Given the description of an element on the screen output the (x, y) to click on. 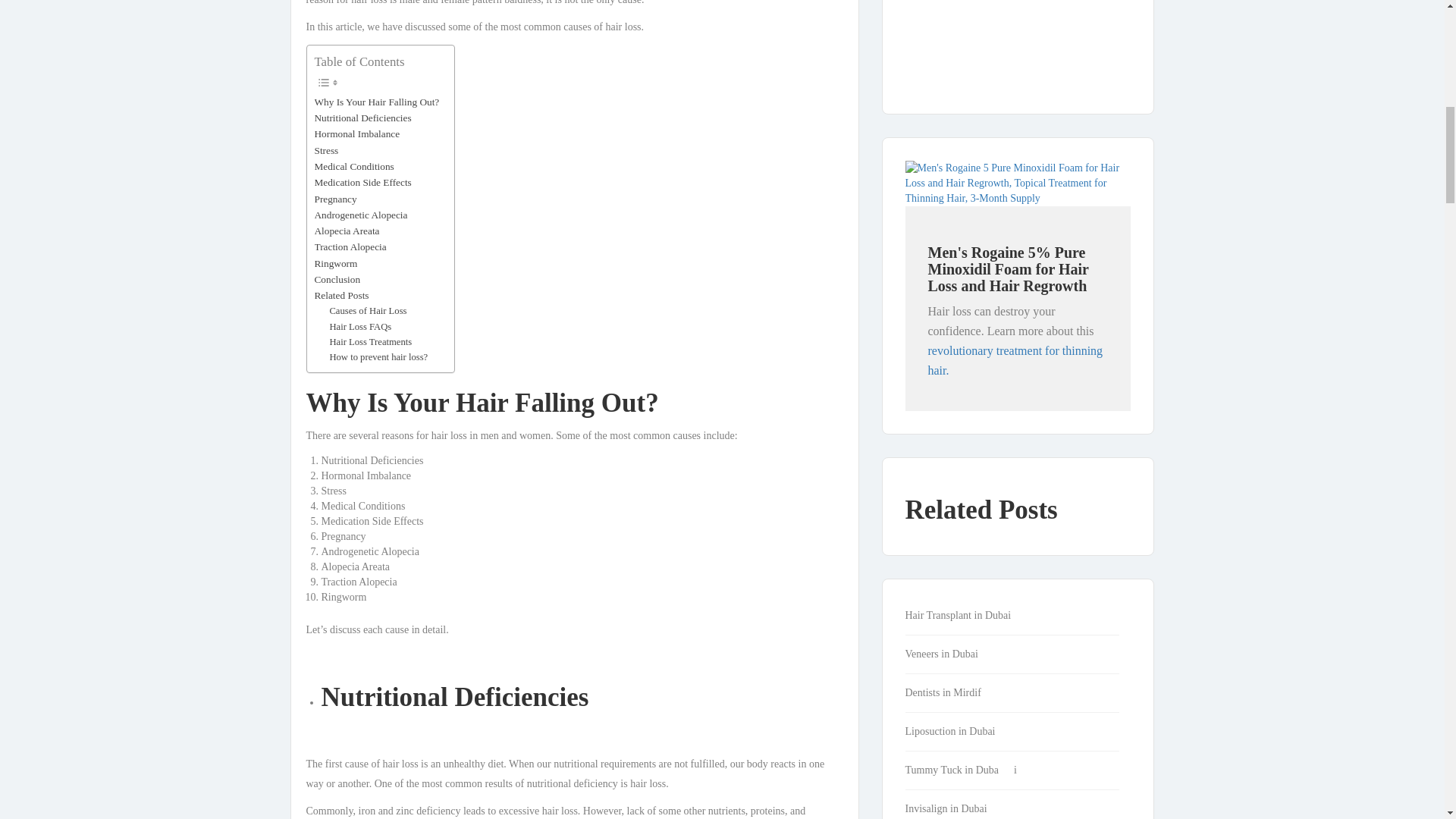
Traction Alopecia (349, 246)
Why Is Your Hair Falling Out? (376, 101)
Ringworm (335, 263)
Conclusion (336, 279)
Hair Loss Treatments (370, 341)
Hormonal Imbalance (356, 133)
Medical Conditions (353, 166)
Androgenetic Alopecia (360, 214)
Causes of Hair Loss (367, 310)
Hair Loss FAQs (360, 326)
Stress (325, 150)
Pregnancy (335, 198)
Related Posts (341, 295)
Medication Side Effects (362, 182)
Nutritional Deficiencies (362, 117)
